Given the description of an element on the screen output the (x, y) to click on. 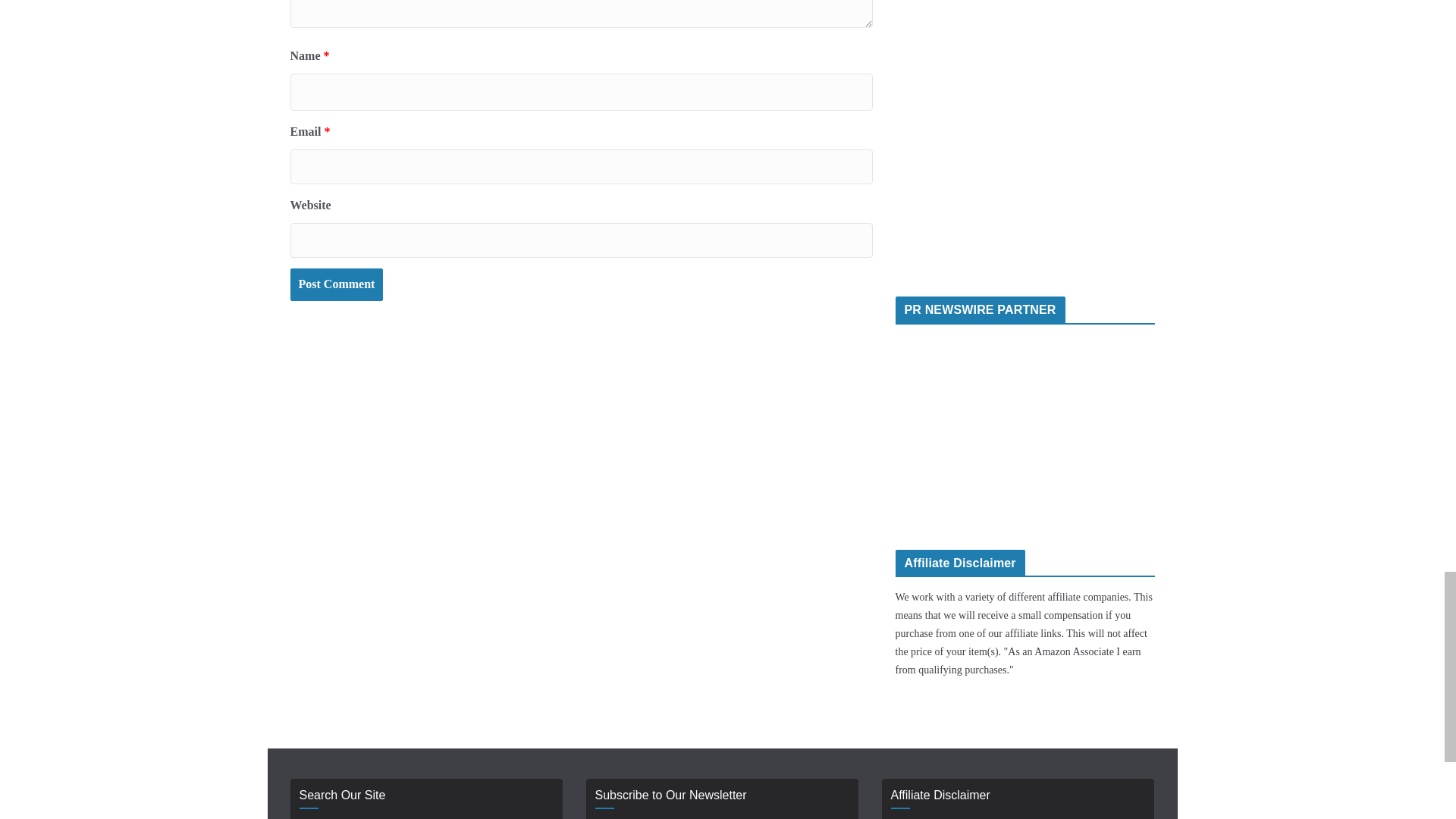
Post Comment (335, 284)
